Given the description of an element on the screen output the (x, y) to click on. 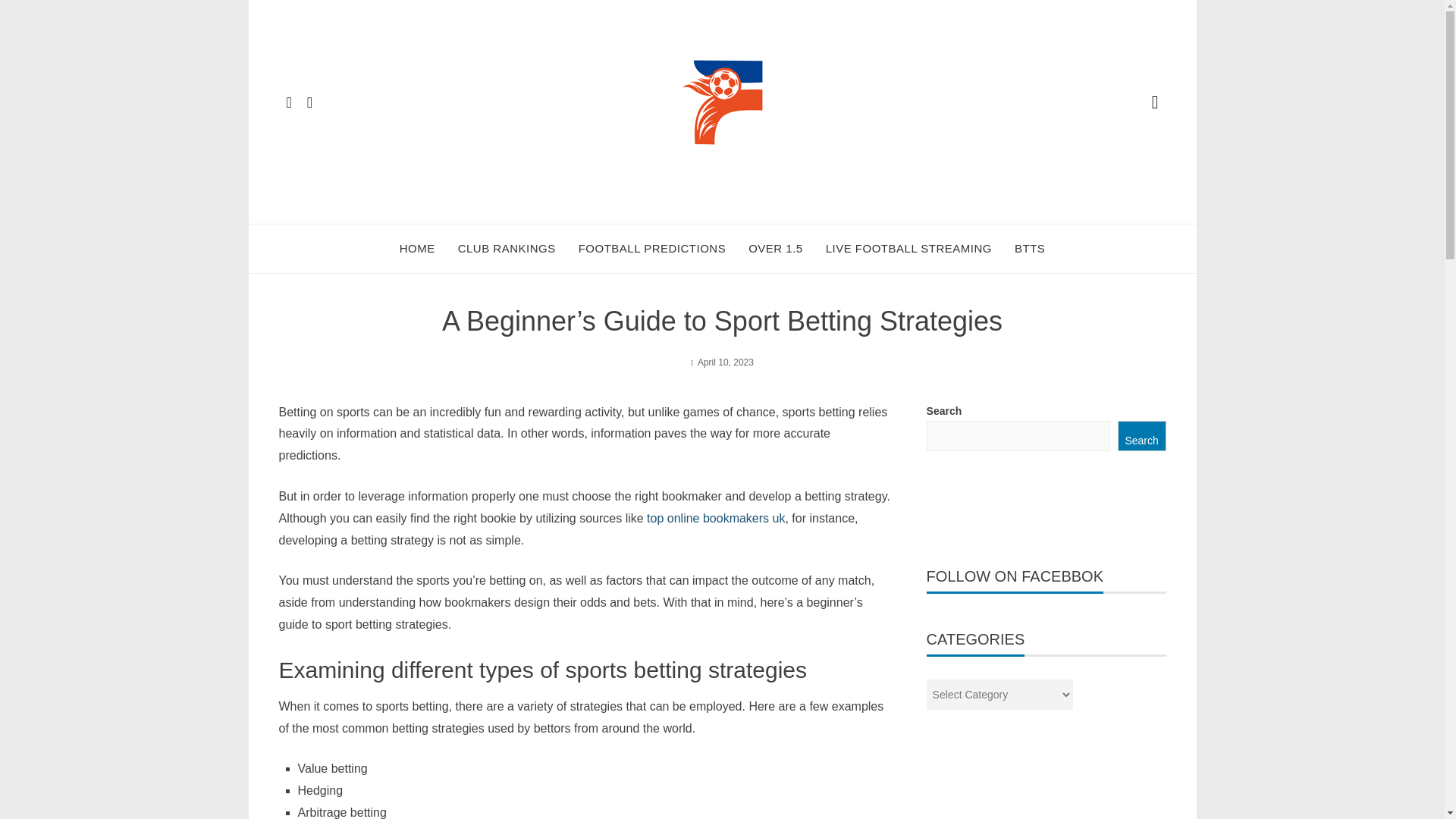
HOME (416, 248)
top online bookmakers uk (715, 517)
FOOTBALL PREDICTIONS (651, 248)
Search (1142, 435)
LIVE FOOTBALL STREAMING (908, 248)
BTTS (1029, 248)
OVER 1.5 (775, 248)
CLUB RANKINGS (507, 248)
